Given the description of an element on the screen output the (x, y) to click on. 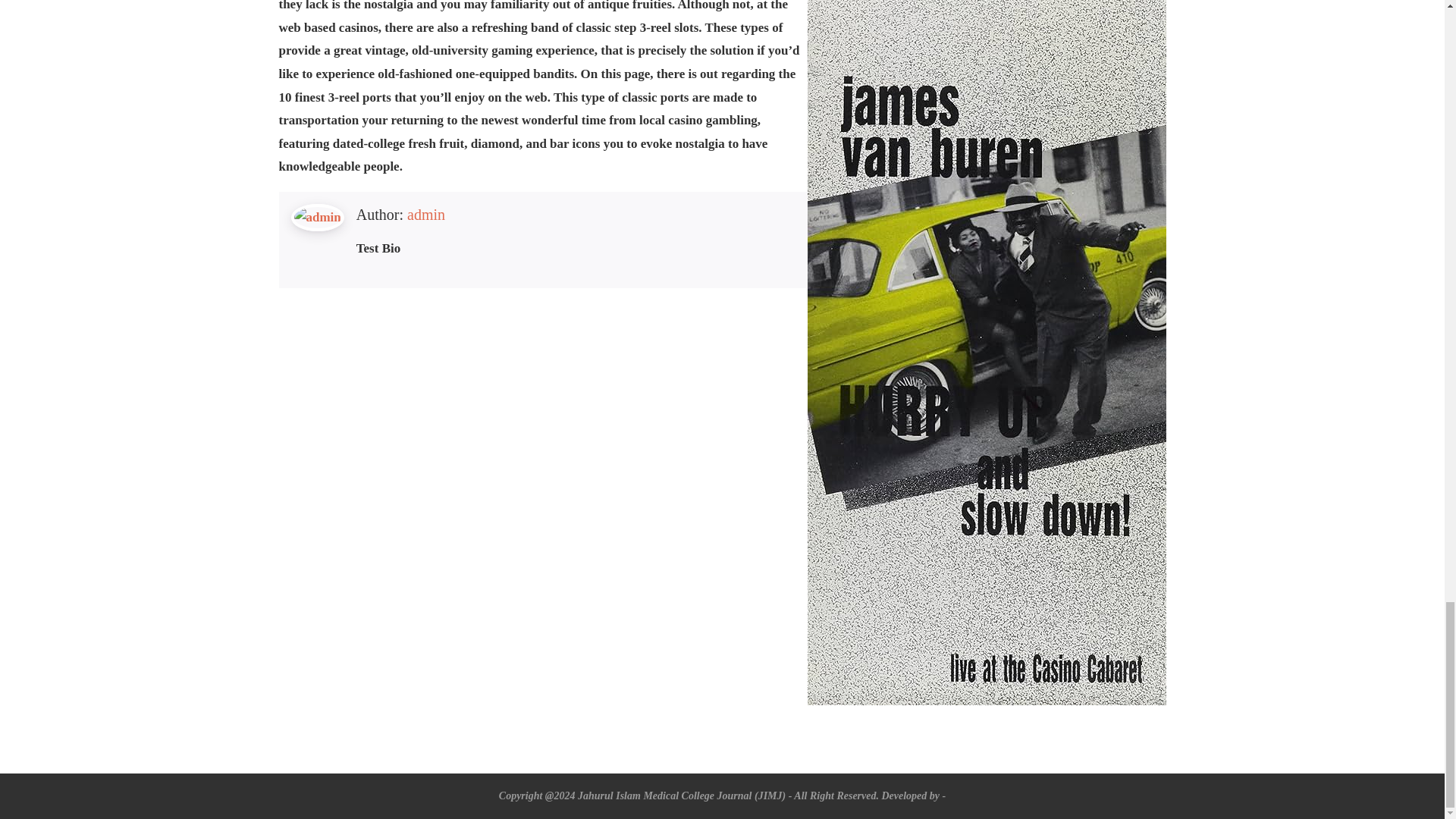
admin (426, 214)
